Given the description of an element on the screen output the (x, y) to click on. 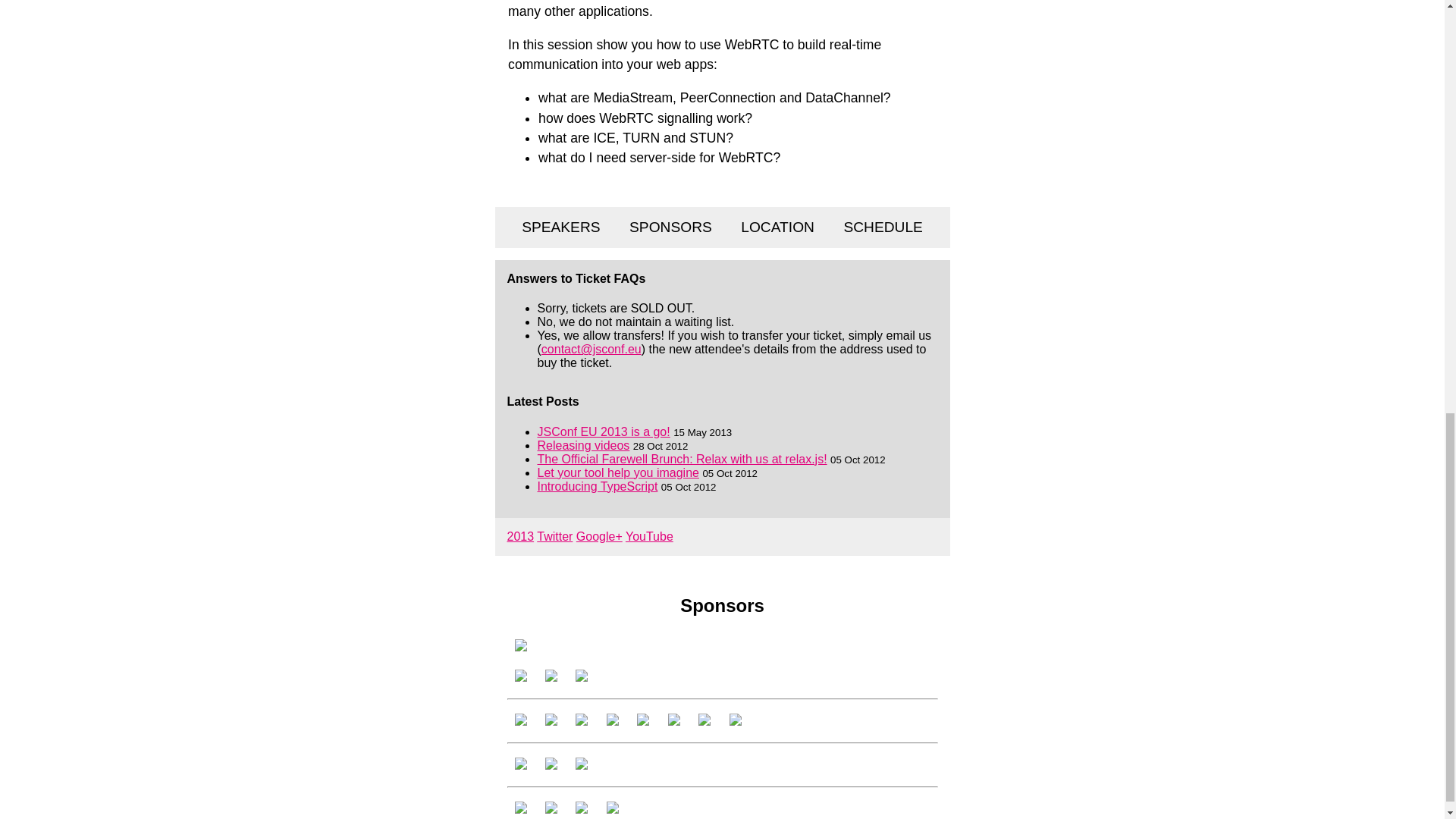
Introducing TypeScript (597, 486)
Let your tool help you imagine (617, 472)
SCHEDULE (883, 227)
JSConf EU 2013 is a go! (603, 431)
SPONSORS (669, 227)
YouTube (649, 535)
LOCATION (777, 227)
SPEAKERS (560, 227)
The Official Farewell Brunch: Relax with us at relax.js! (682, 459)
2013 (520, 535)
